Given the description of an element on the screen output the (x, y) to click on. 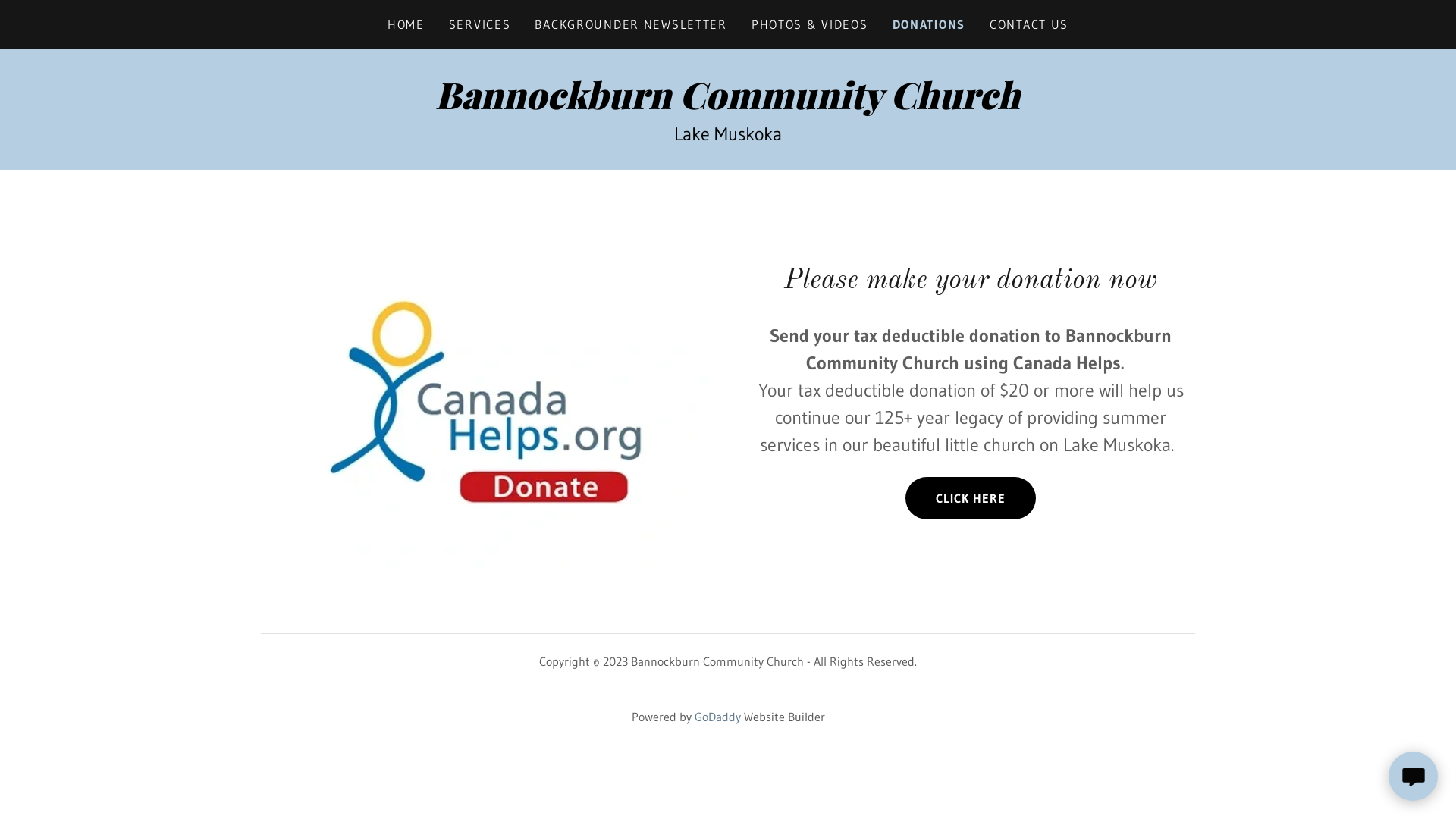
BACKGROUNDER NEWSLETTER Element type: text (630, 23)
GoDaddy Element type: text (717, 716)
PHOTOS & VIDEOS Element type: text (809, 23)
HOME Element type: text (405, 23)
DONATIONS Element type: text (928, 24)
Bannockburn Community Church Element type: text (727, 104)
CLICK HERE Element type: text (970, 497)
CONTACT US Element type: text (1029, 23)
SERVICES Element type: text (479, 23)
